Given the description of an element on the screen output the (x, y) to click on. 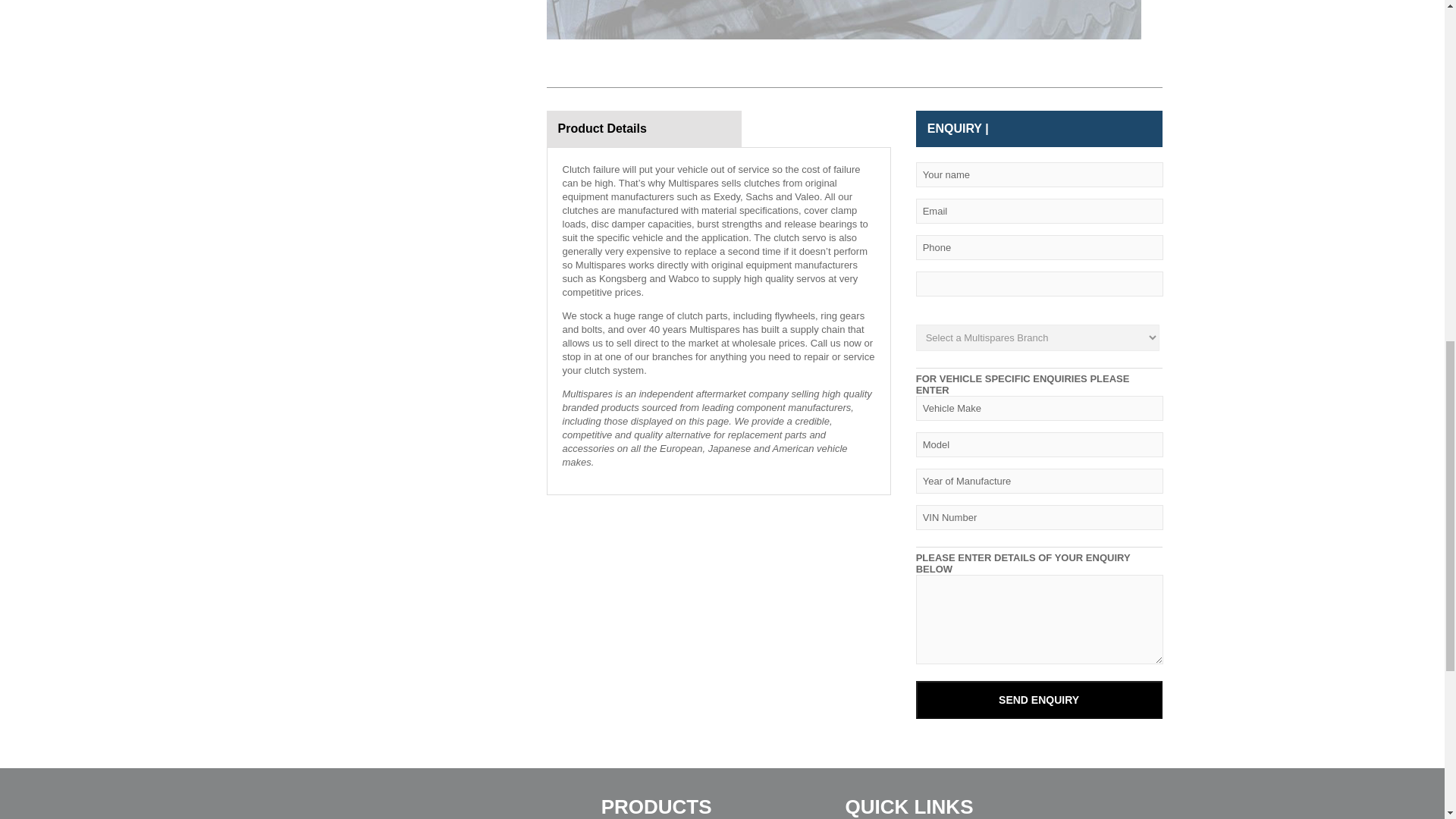
Model (1039, 444)
Vehicle Make (1039, 407)
Email (1039, 211)
Your name (1039, 174)
SEND ENQUIRY (1038, 699)
Phone (1039, 247)
Year of Manufacture (1039, 480)
VIN Number (1039, 517)
